Given the description of an element on the screen output the (x, y) to click on. 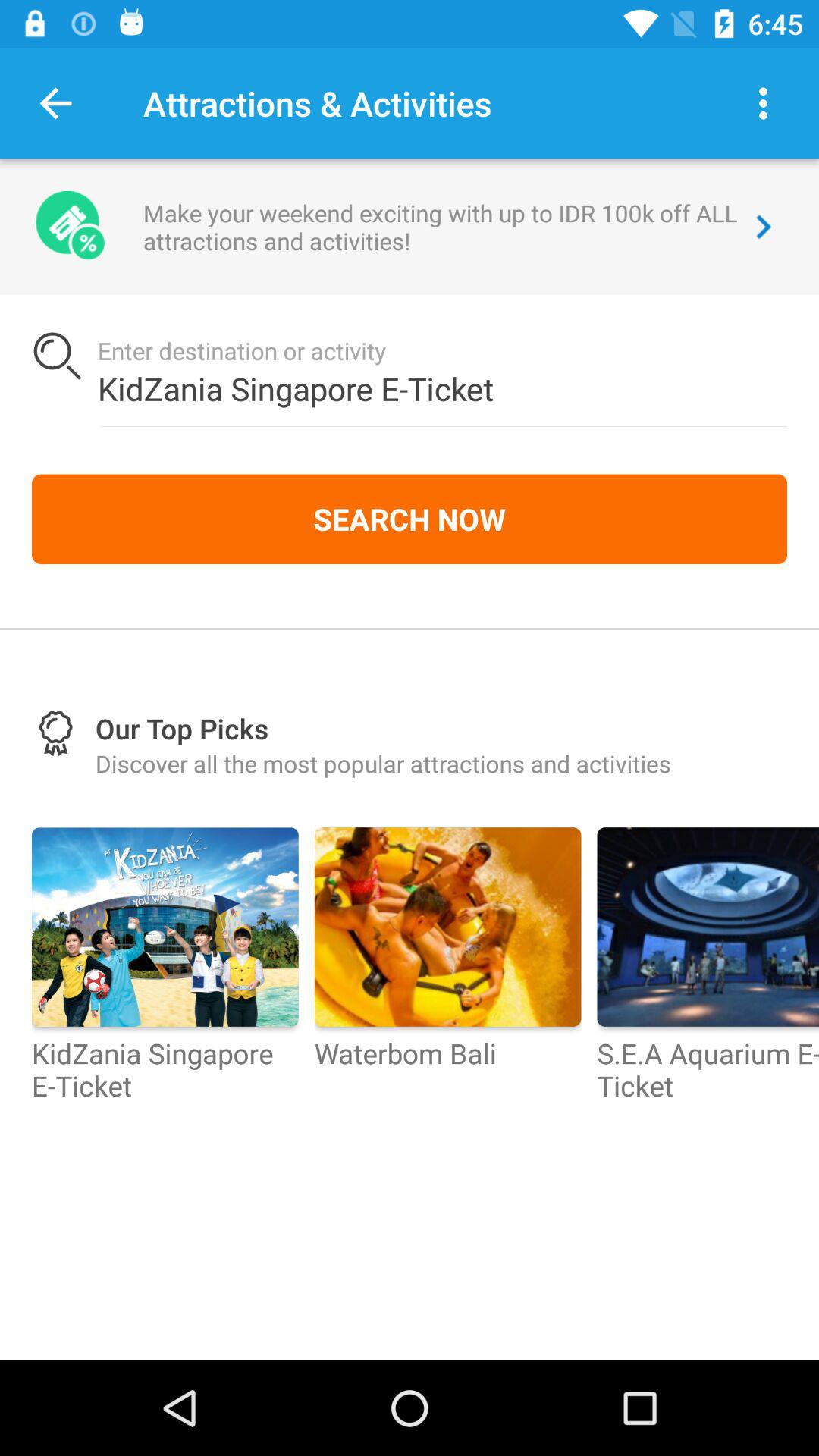
swipe to the search now (409, 519)
